Given the description of an element on the screen output the (x, y) to click on. 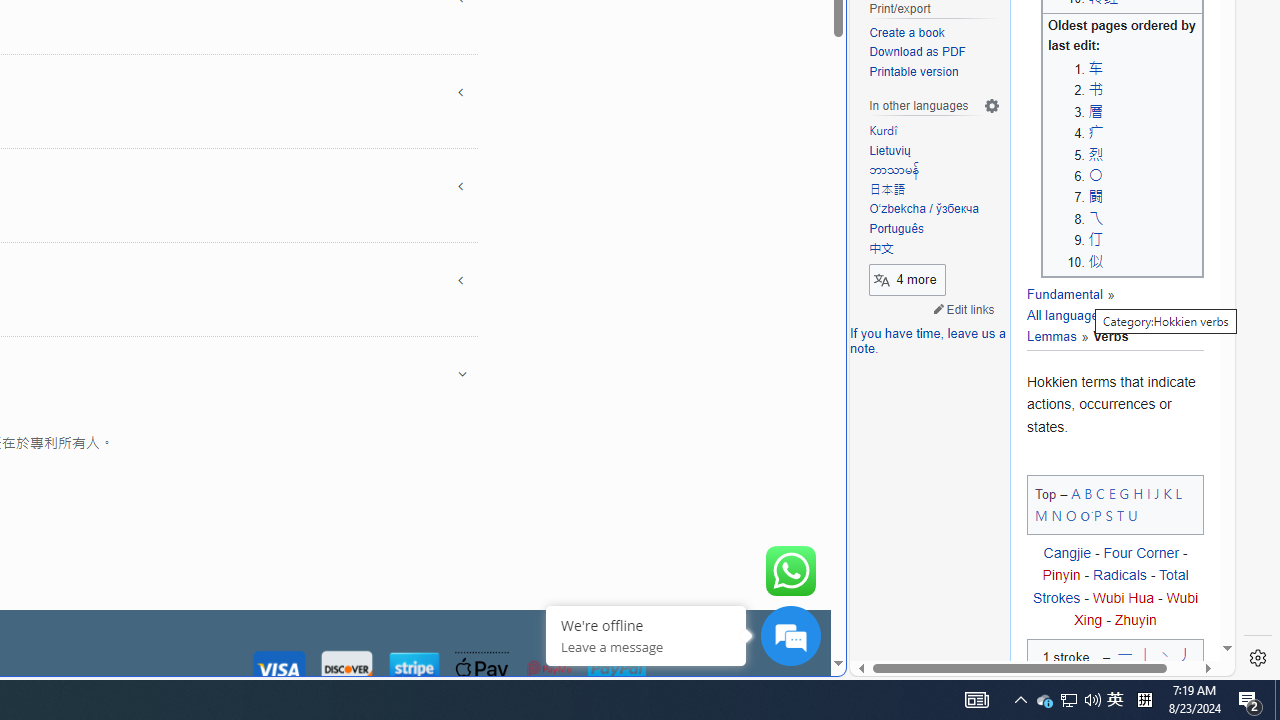
J (1156, 492)
E (1112, 492)
Four Corner (1140, 553)
Download as PDF (917, 51)
Verbs (1102, 336)
Radicals (1119, 575)
Printable version (934, 71)
